Given the description of an element on the screen output the (x, y) to click on. 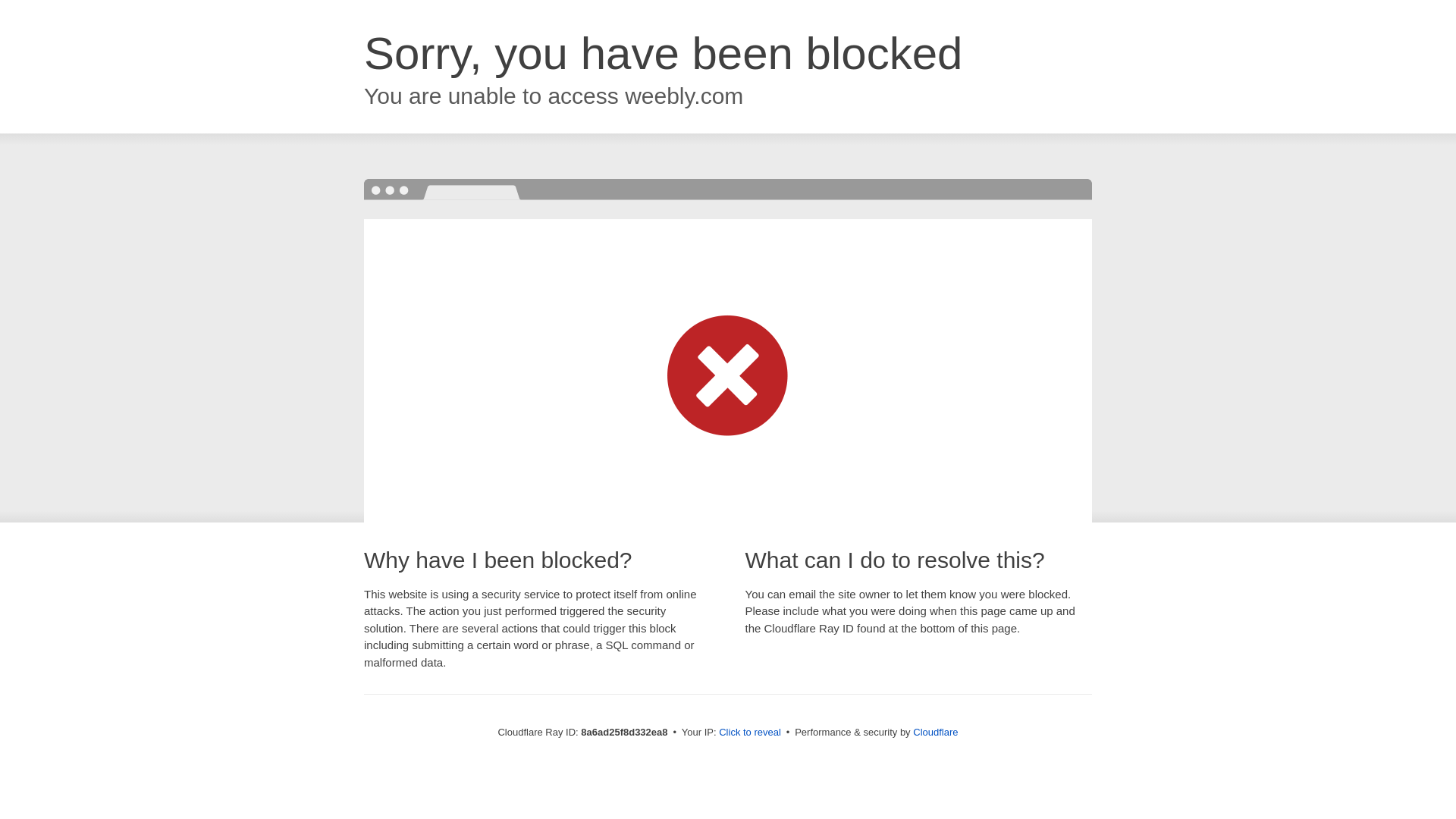
Cloudflare (935, 731)
Click to reveal (749, 732)
